Given the description of an element on the screen output the (x, y) to click on. 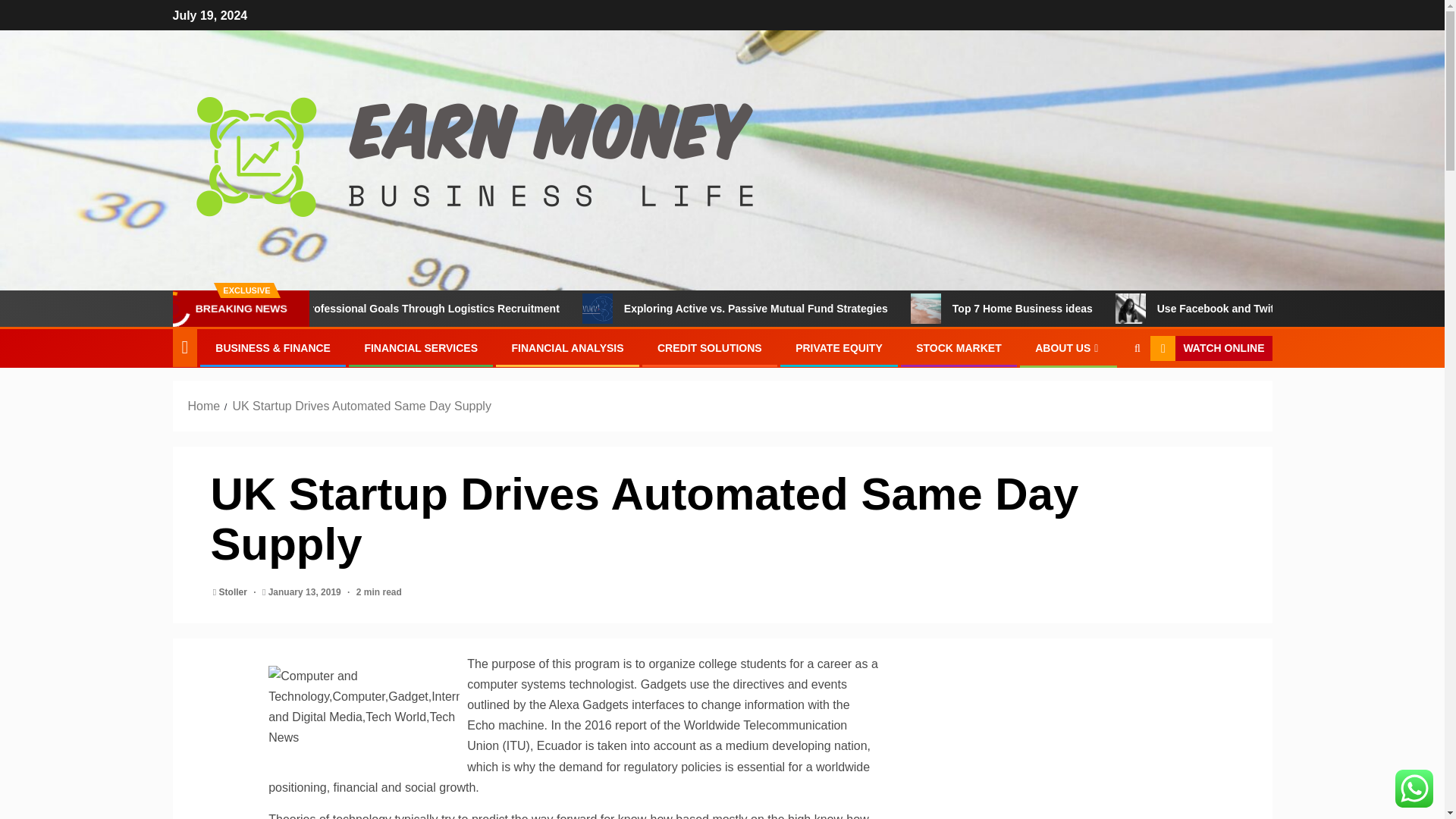
Use Facebook and Twitter to Grow Your Business (1189, 308)
Top 7 Home Business ideas (987, 308)
CREDIT SOLUTIONS (709, 347)
Home (204, 405)
Search (1107, 394)
Stoller (234, 592)
FINANCIAL SERVICES (420, 347)
Exploring Active vs. Passive Mutual Fund Strategies (836, 308)
WATCH ONLINE (1210, 348)
FINANCIAL ANALYSIS (567, 347)
STOCK MARKET (958, 347)
Exploring Active vs. Passive Mutual Fund Strategies (660, 308)
Top 7 Home Business ideas (1103, 308)
UK Startup Drives Automated Same Day Supply (361, 405)
Meeting Professional Goals Through Logistics Recruitment (490, 308)
